Given the description of an element on the screen output the (x, y) to click on. 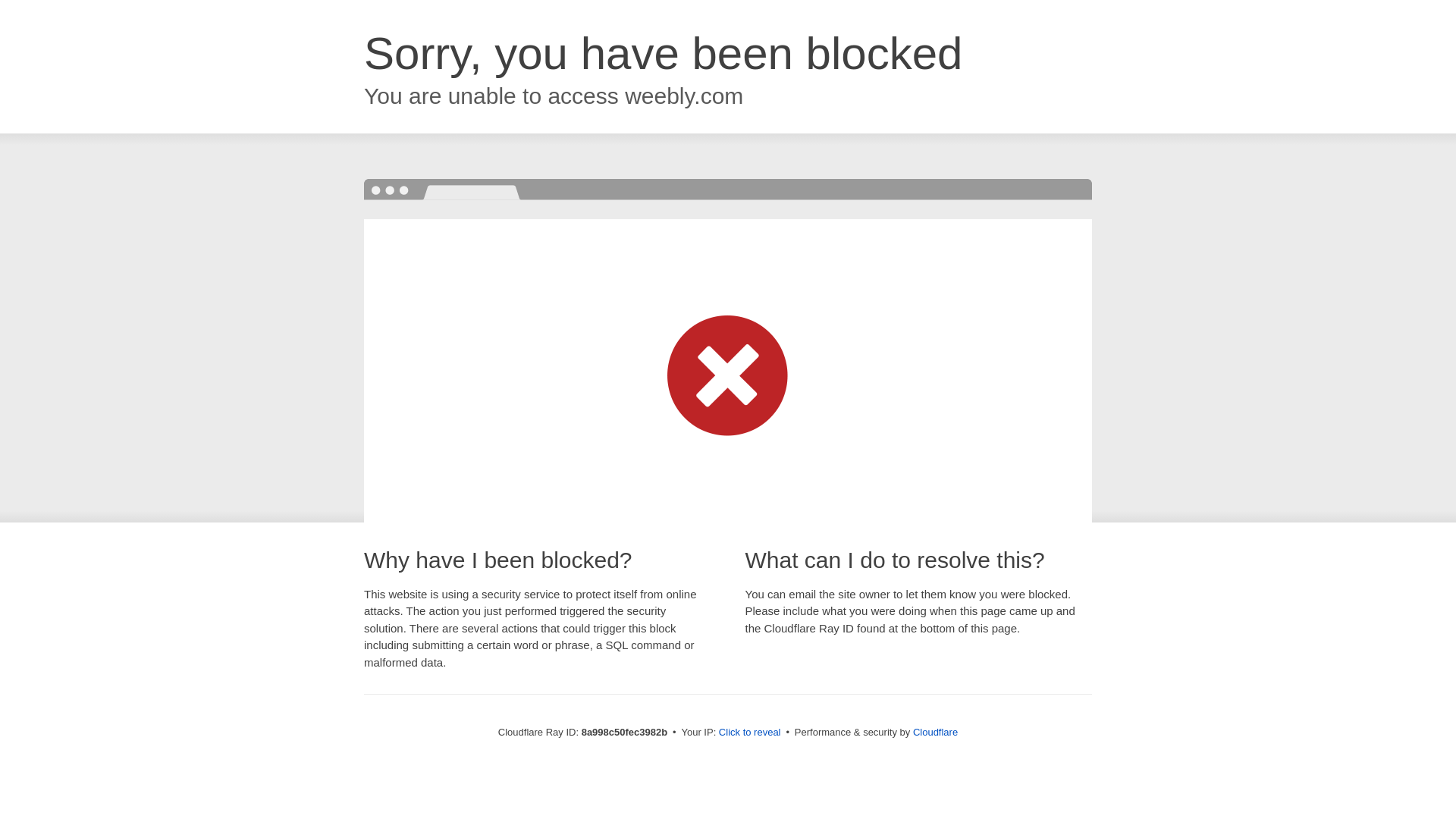
Cloudflare (935, 731)
Click to reveal (749, 732)
